Given the description of an element on the screen output the (x, y) to click on. 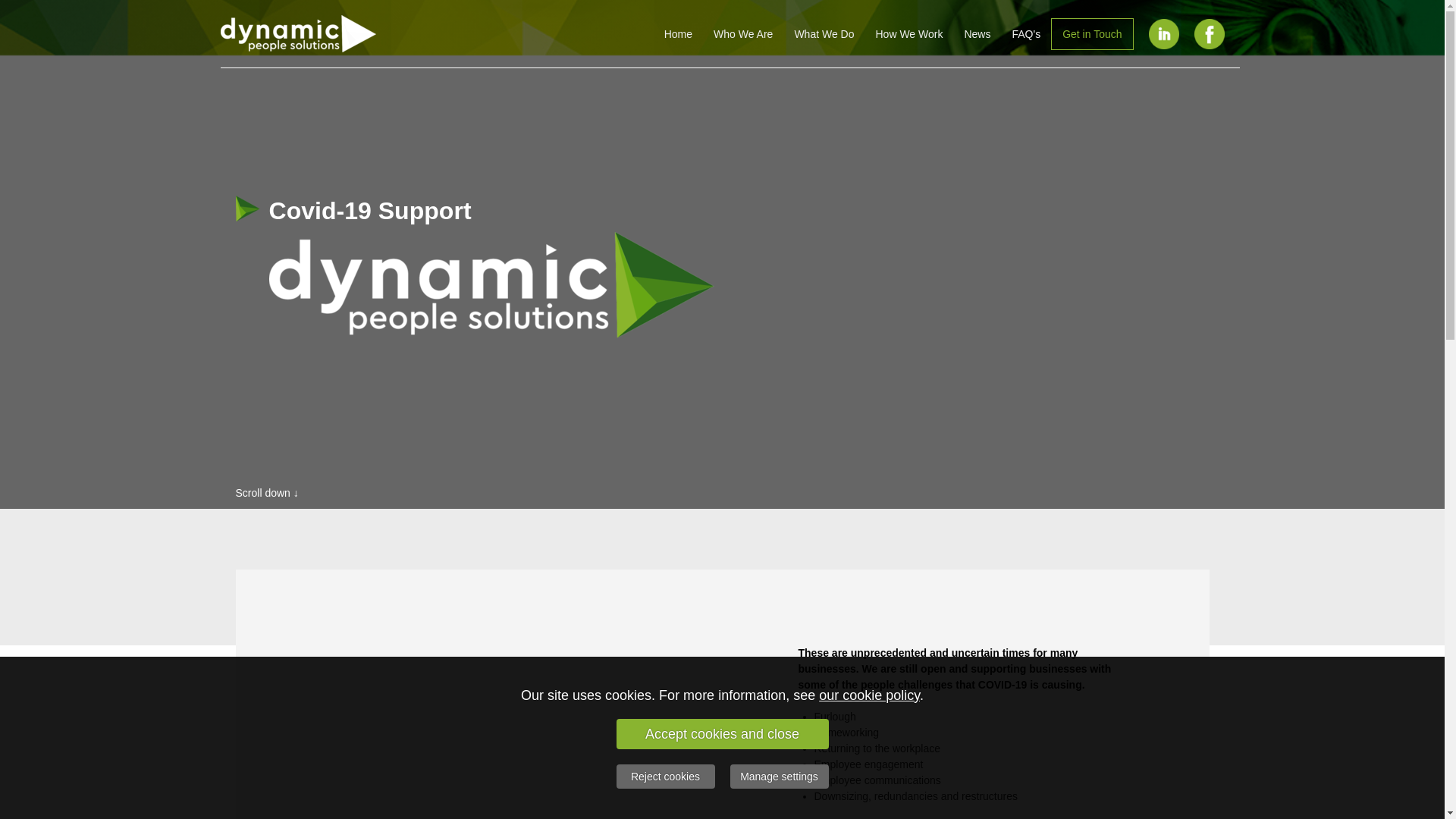
What We Do (823, 33)
How We Work (908, 33)
News (977, 33)
FAQ's (1026, 33)
Who We Are (743, 33)
Get in Touch (1091, 33)
Home (678, 33)
